Given the description of an element on the screen output the (x, y) to click on. 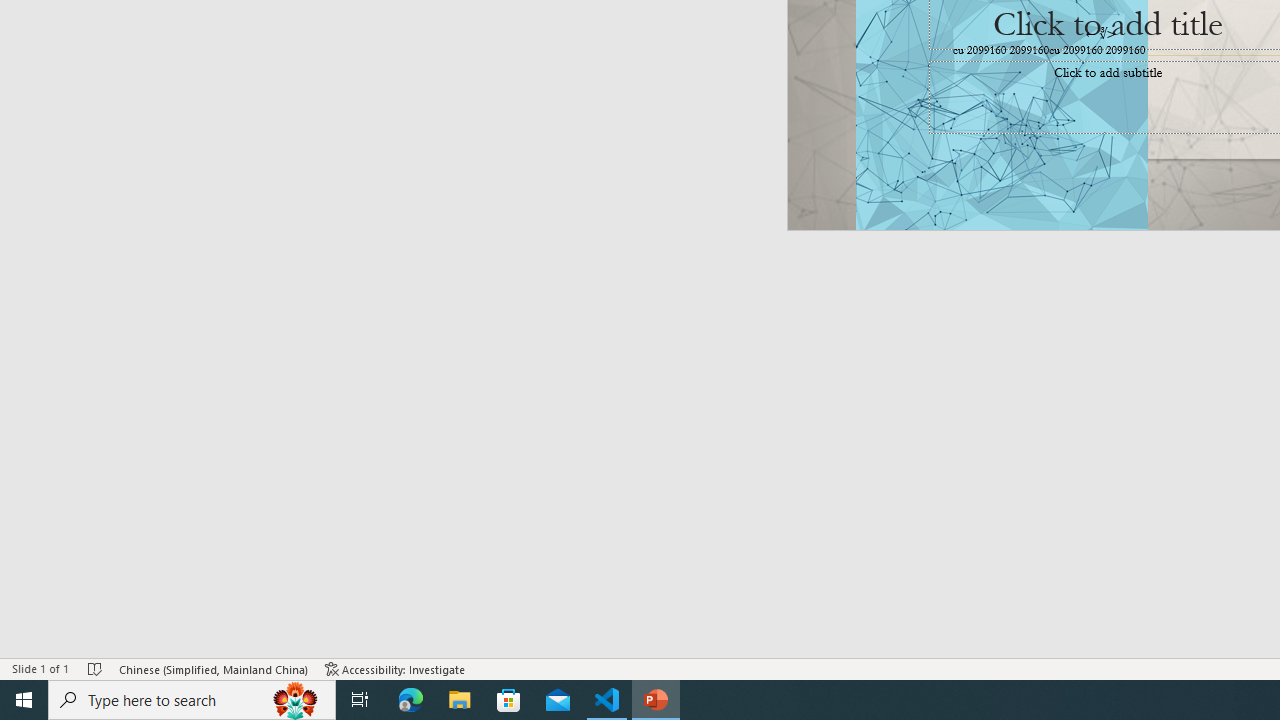
TextBox 7 (1100, 33)
TextBox 61 (1106, 51)
